Given the description of an element on the screen output the (x, y) to click on. 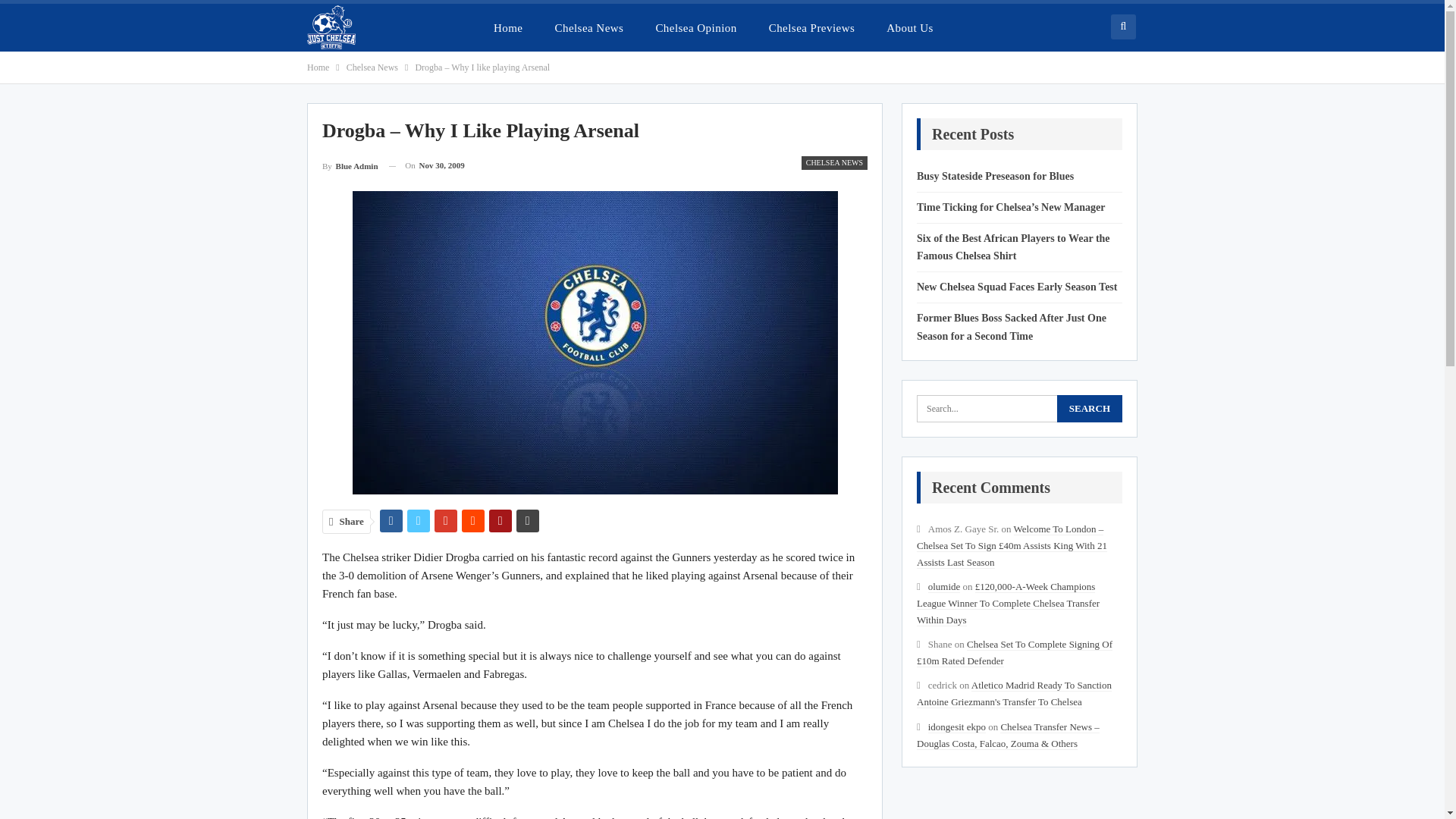
CHELSEA NEWS (834, 162)
Browse Author Articles (349, 165)
About Us (909, 27)
Search for: (1019, 408)
Search (1089, 408)
Search (1089, 408)
Chelsea Opinion (695, 27)
Chelsea News (587, 27)
Home (508, 27)
Chelsea Previews (812, 27)
Home (318, 67)
By Blue Admin (349, 165)
Chelsea News (371, 67)
